Given the description of an element on the screen output the (x, y) to click on. 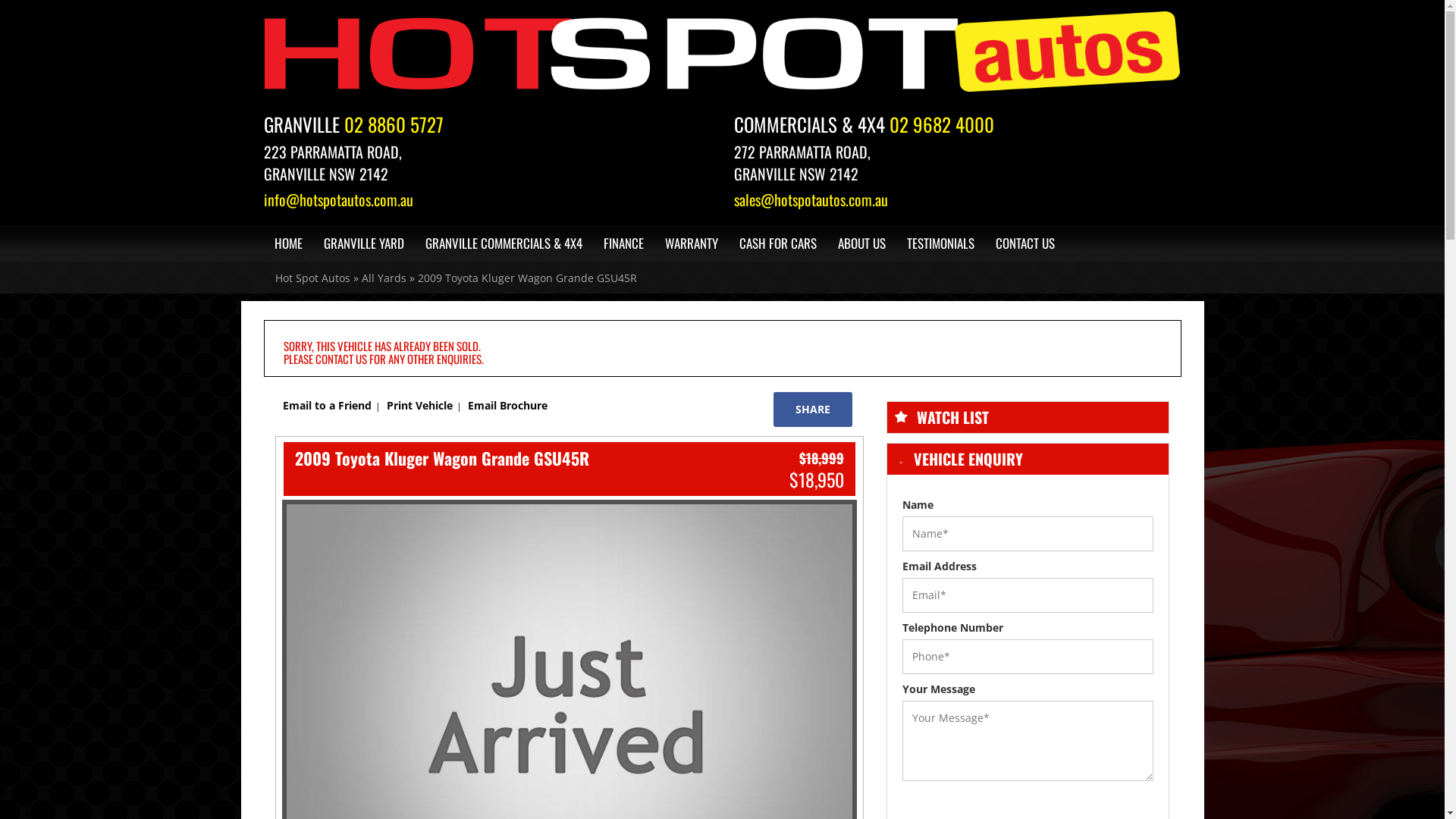
sales@hotspotautos.com.au Element type: text (957, 199)
GRANVILLE YARD Element type: text (363, 243)
2009 Toyota Kluger Wagon Grande GSU45R Element type: text (526, 277)
GRANVILLE COMMERCIALS & 4X4 Element type: text (503, 243)
HOME Element type: text (288, 243)
WATCH LIST Element type: text (952, 416)
FINANCE Element type: text (623, 243)
Hot Spot Autos Element type: hover (722, 55)
Email to a Friend Element type: text (326, 405)
Hot Spot Autos Element type: text (311, 277)
WATCH LIST Element type: text (1027, 417)
TESTIMONIALS Element type: text (940, 243)
CONTACT US Element type: text (1024, 243)
02 8860 5727 Element type: text (393, 123)
02 9682 4000 Element type: text (938, 123)
All Yards Element type: text (382, 277)
ABOUT US Element type: text (860, 243)
CASH FOR CARS Element type: text (777, 243)
WARRANTY Element type: text (690, 243)
Email Brochure Element type: text (506, 405)
info@hotspotautos.com.au Element type: text (487, 199)
Print Vehicle Element type: text (419, 405)
